Given the description of an element on the screen output the (x, y) to click on. 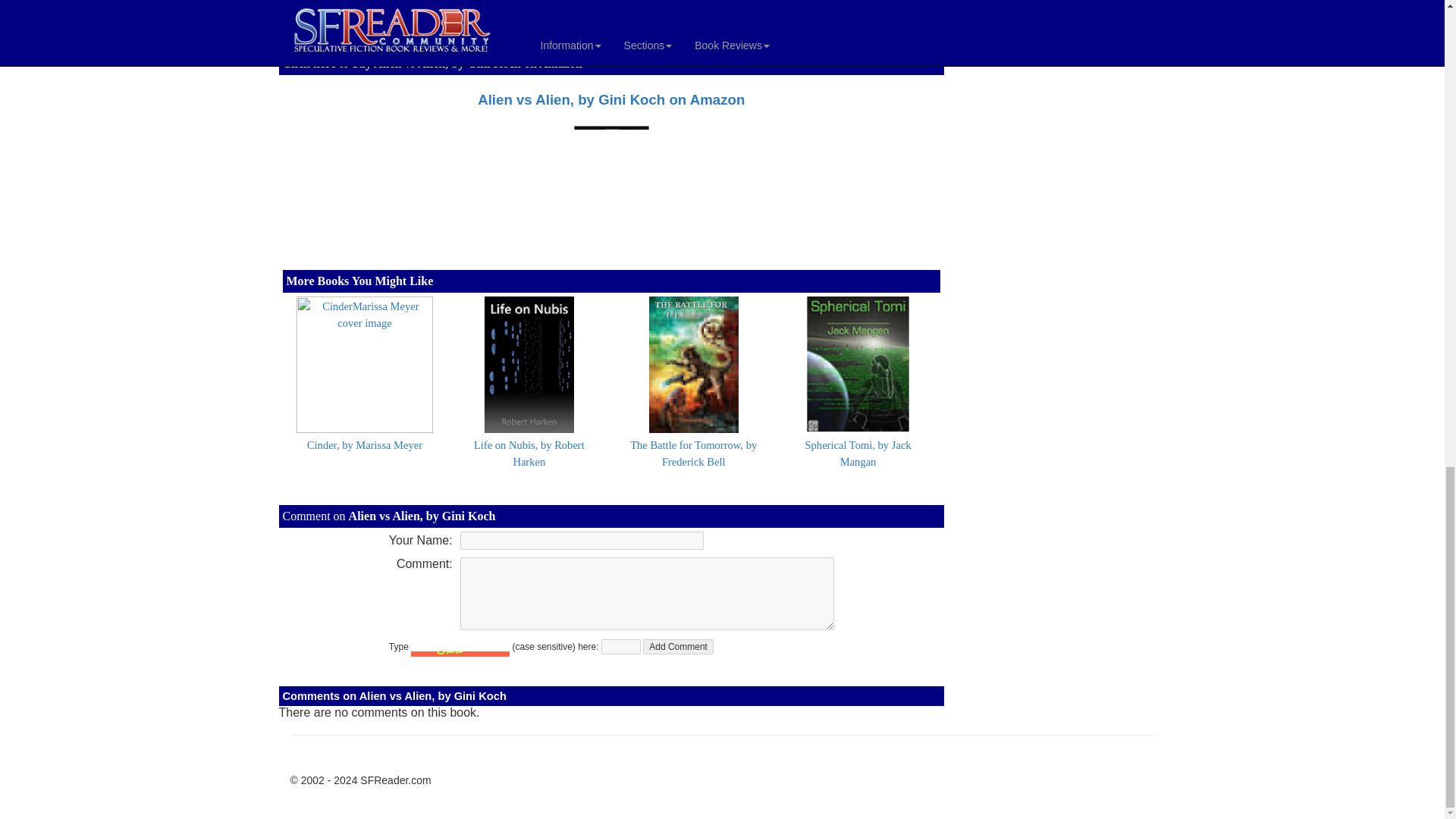
Add Comment (678, 646)
Cinder, by Marissa Meyer (364, 444)
Alien vs Alien, by Gini Koch on Amazon (610, 99)
